Given the description of an element on the screen output the (x, y) to click on. 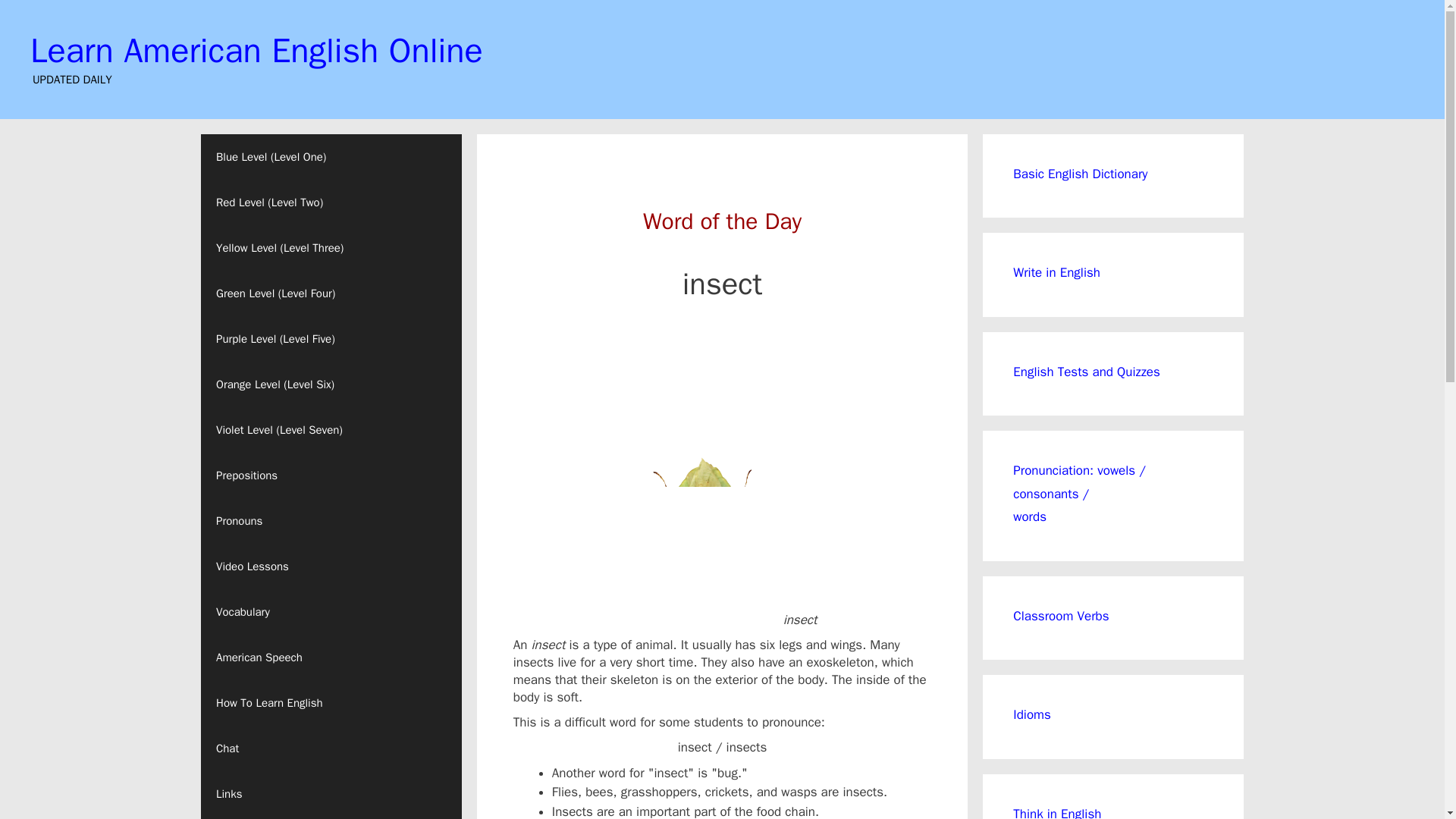
Vocabulary (330, 610)
Word of the Day (722, 220)
Video Lessons (330, 565)
American Speech (330, 656)
Prepositions (330, 474)
Stuff For Teachers (330, 817)
Learn American English Online (256, 50)
Links (330, 792)
Pronouns (330, 519)
Chat (330, 747)
